Given the description of an element on the screen output the (x, y) to click on. 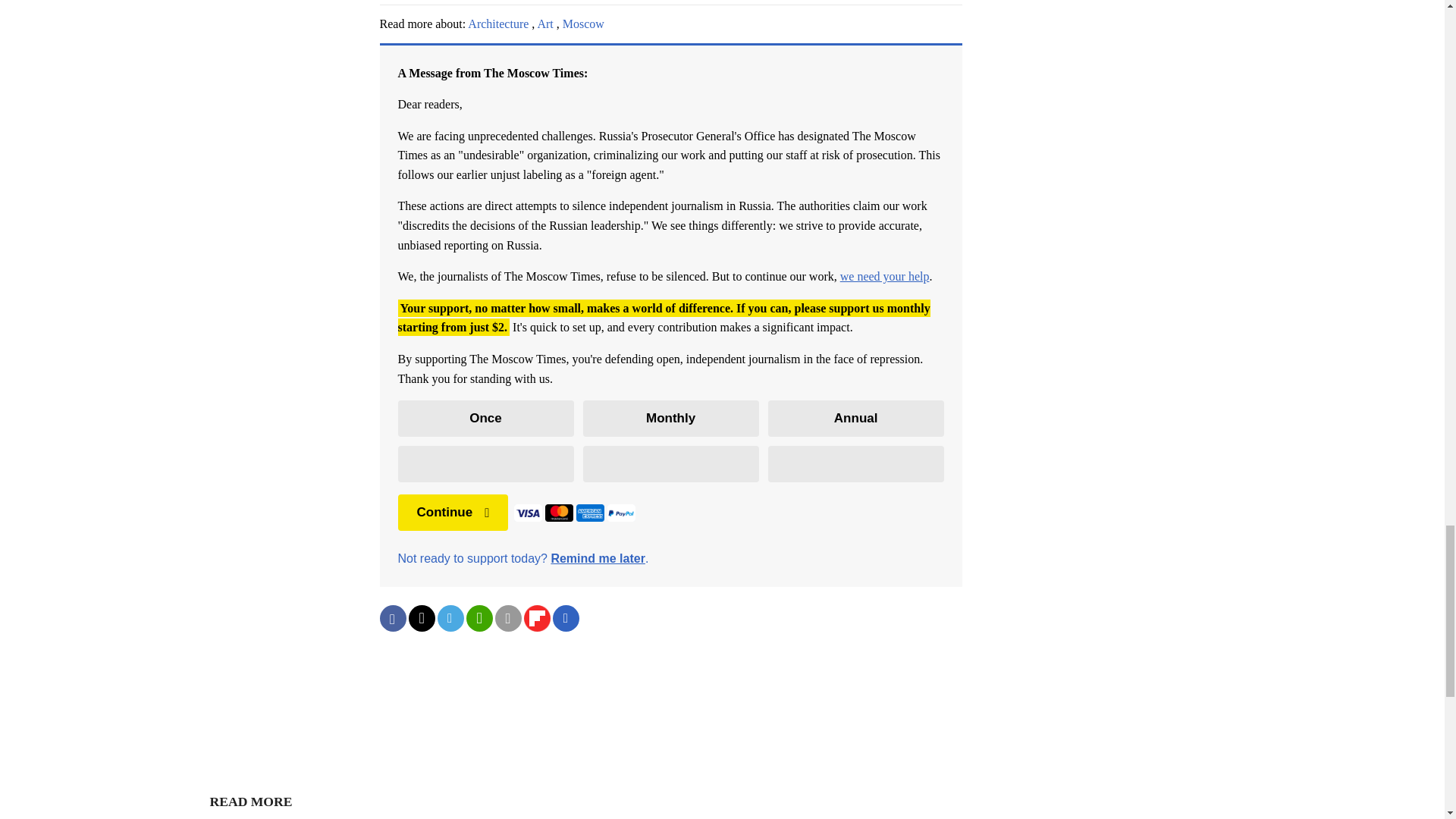
Art (545, 23)
Share on Twitter (420, 618)
we need your help (885, 276)
Moscow (583, 23)
Share on Flipboard (536, 618)
Architecture (497, 23)
Share on Telegram (449, 618)
Share on Facebook (392, 618)
